Given the description of an element on the screen output the (x, y) to click on. 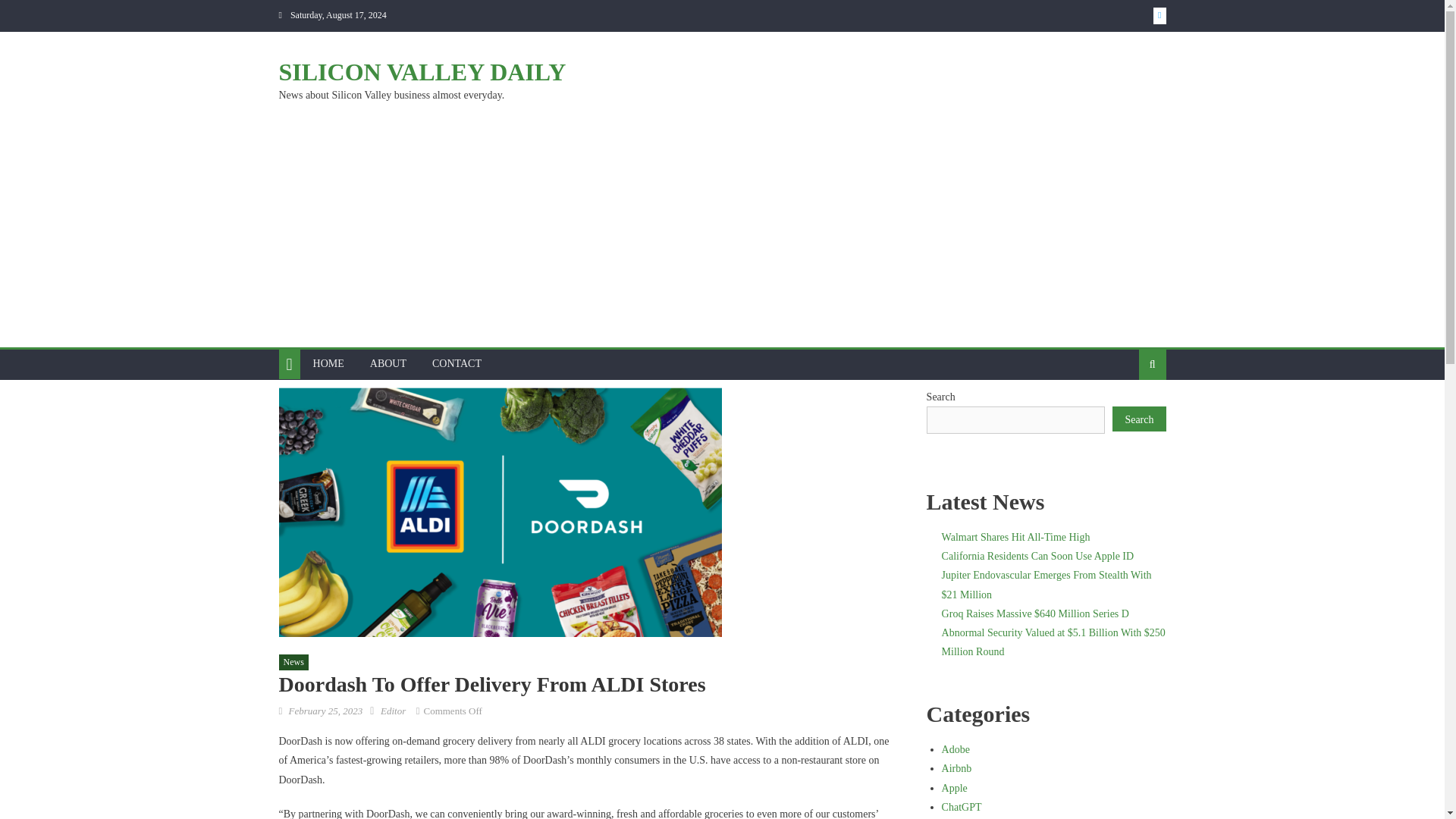
CONTACT (456, 363)
Adobe (955, 749)
ABOUT (387, 363)
February 25, 2023 (325, 710)
SILICON VALLEY DAILY (422, 71)
California Residents Can Soon Use Apple ID (1038, 555)
HOME (328, 363)
News (293, 662)
Search (1128, 412)
